Given the description of an element on the screen output the (x, y) to click on. 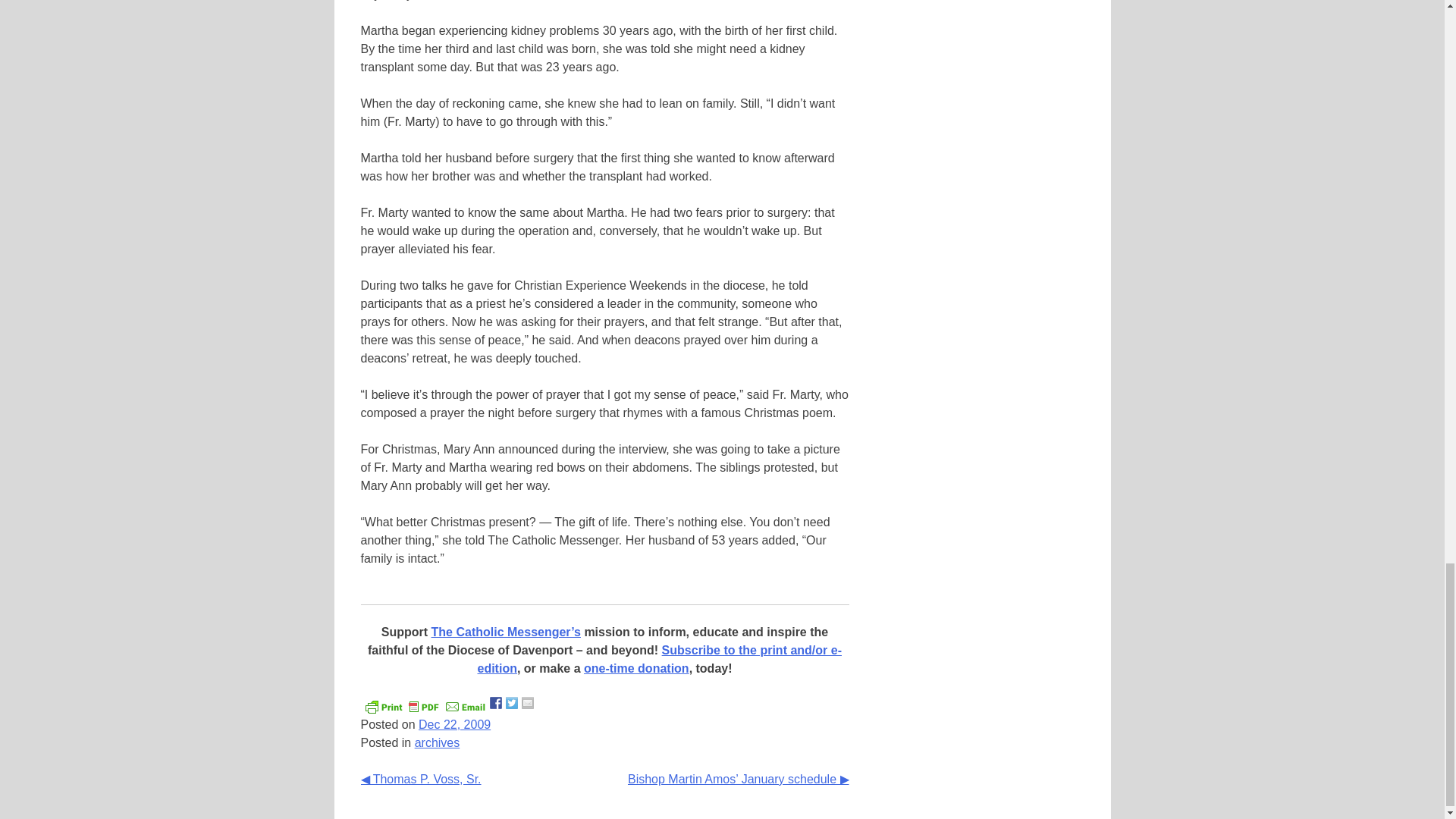
Share on Facebook (495, 702)
Share by email (527, 702)
Share on Twitter (510, 702)
